Given the description of an element on the screen output the (x, y) to click on. 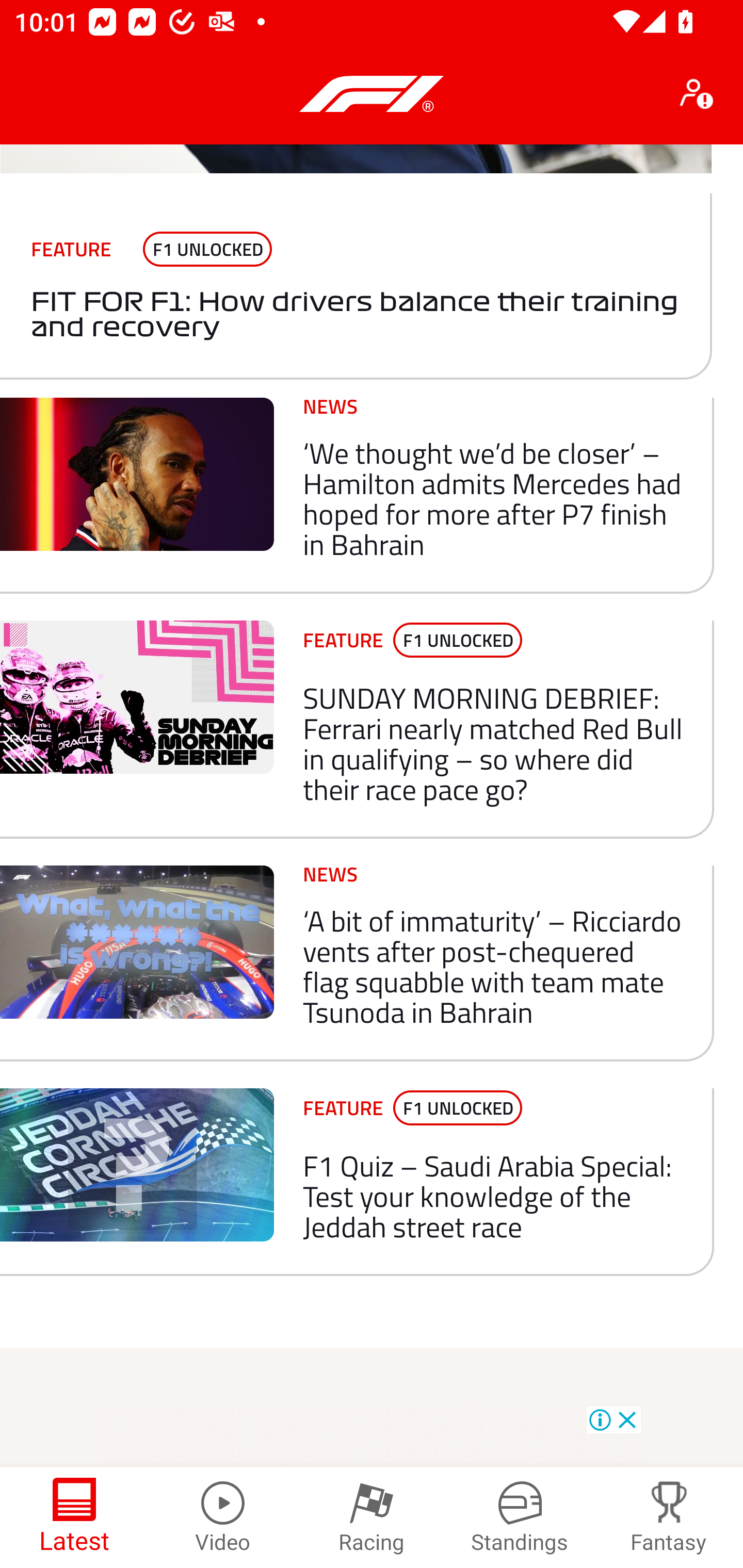
Video (222, 1517)
Racing (371, 1517)
Standings (519, 1517)
Fantasy (668, 1517)
